Given the description of an element on the screen output the (x, y) to click on. 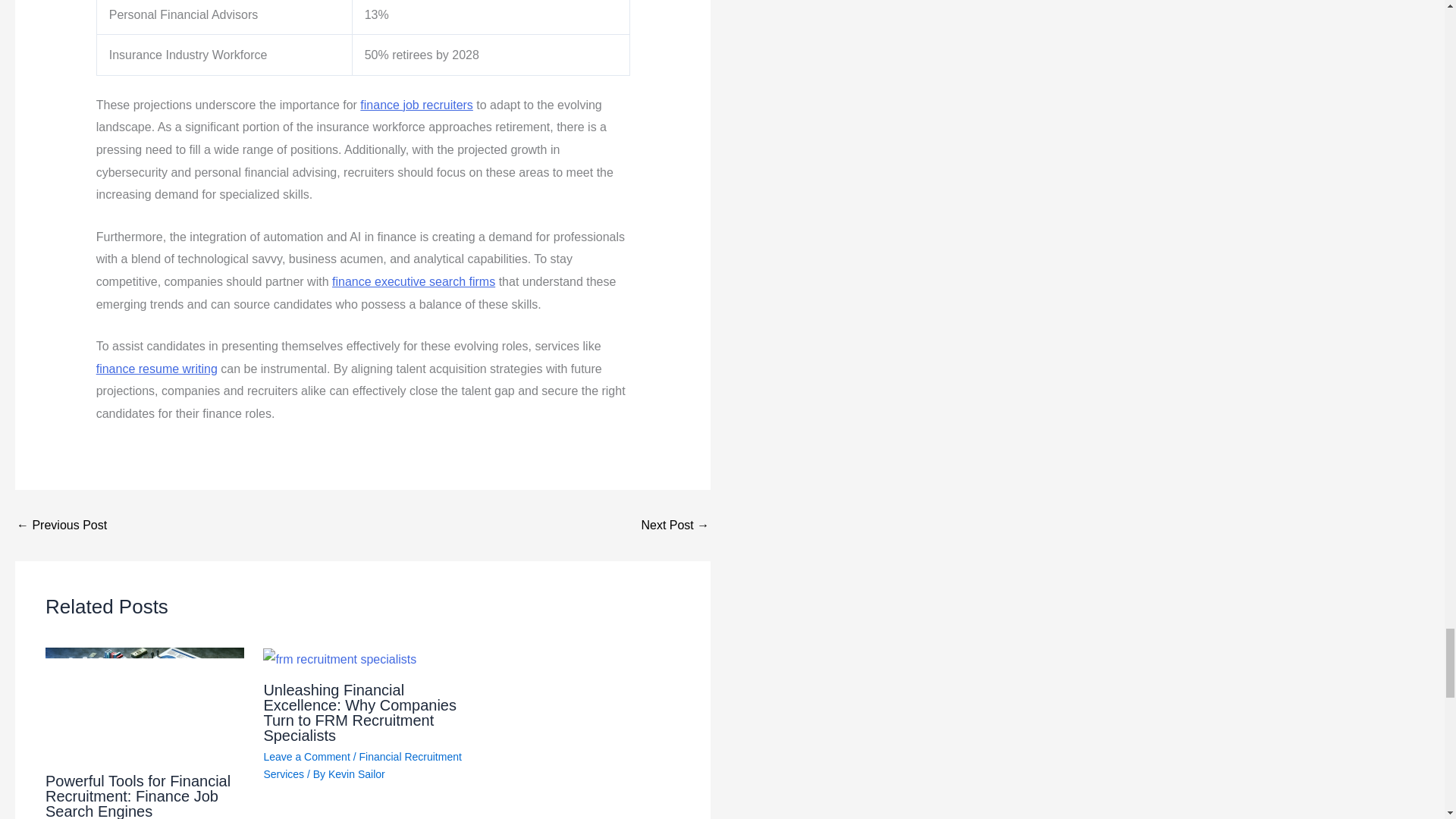
View all posts by Kevin Sailor (357, 774)
